Given the description of an element on the screen output the (x, y) to click on. 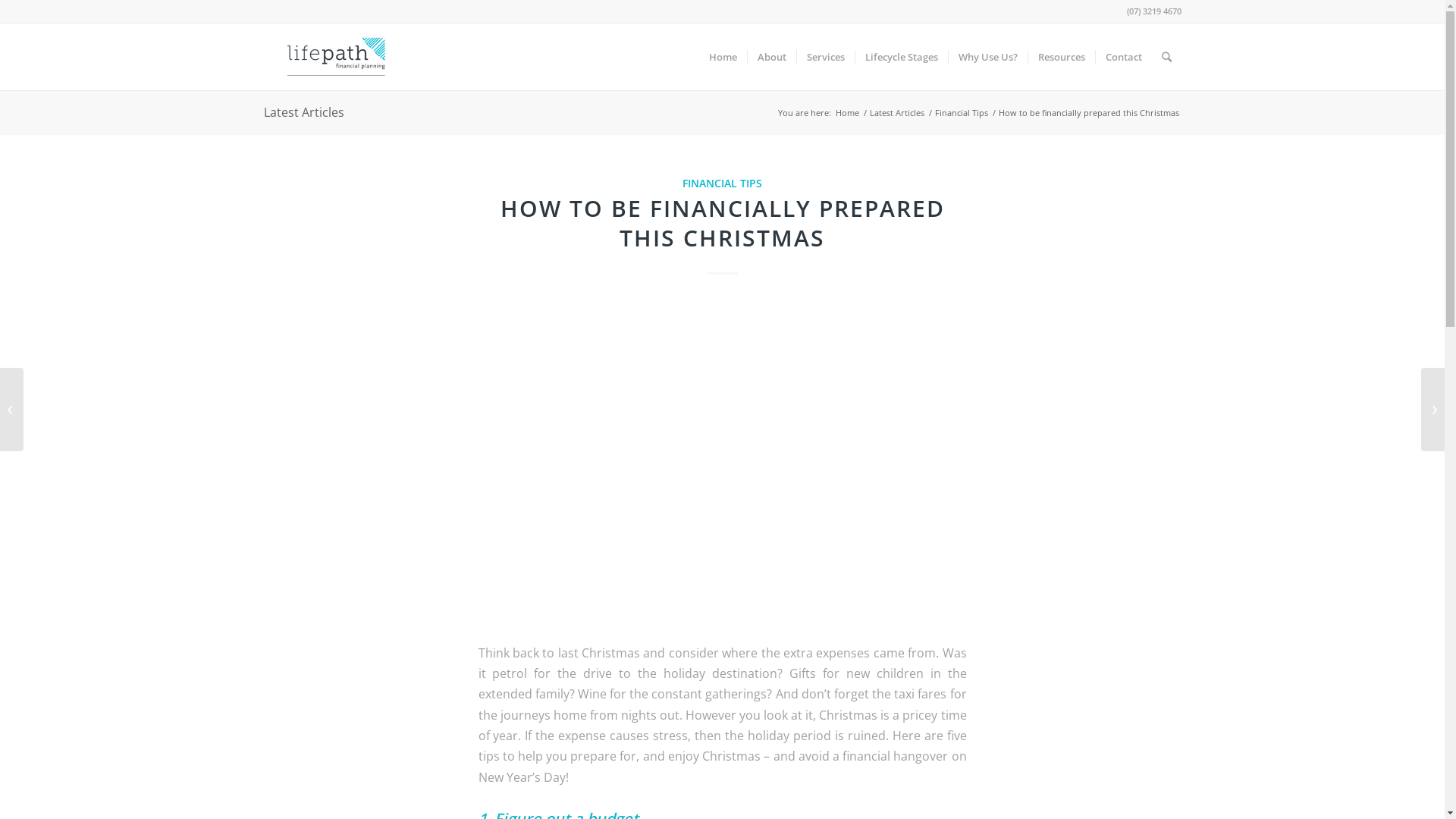
FINANCIAL TIPS Element type: text (722, 182)
About Element type: text (770, 56)
Resources Element type: text (1060, 56)
Contact Element type: text (1123, 56)
Latest Articles Element type: text (303, 111)
Home Element type: text (846, 112)
Lifecycle Stages Element type: text (900, 56)
financially prepared this christmas Element type: hover (721, 462)
Latest Articles Element type: text (896, 112)
Services Element type: text (825, 56)
HOW TO BE FINANCIALLY PREPARED THIS CHRISTMAS Element type: text (722, 222)
Why Use Us? Element type: text (987, 56)
Home Element type: text (722, 56)
Financial Tips Element type: text (961, 112)
